Given the description of an element on the screen output the (x, y) to click on. 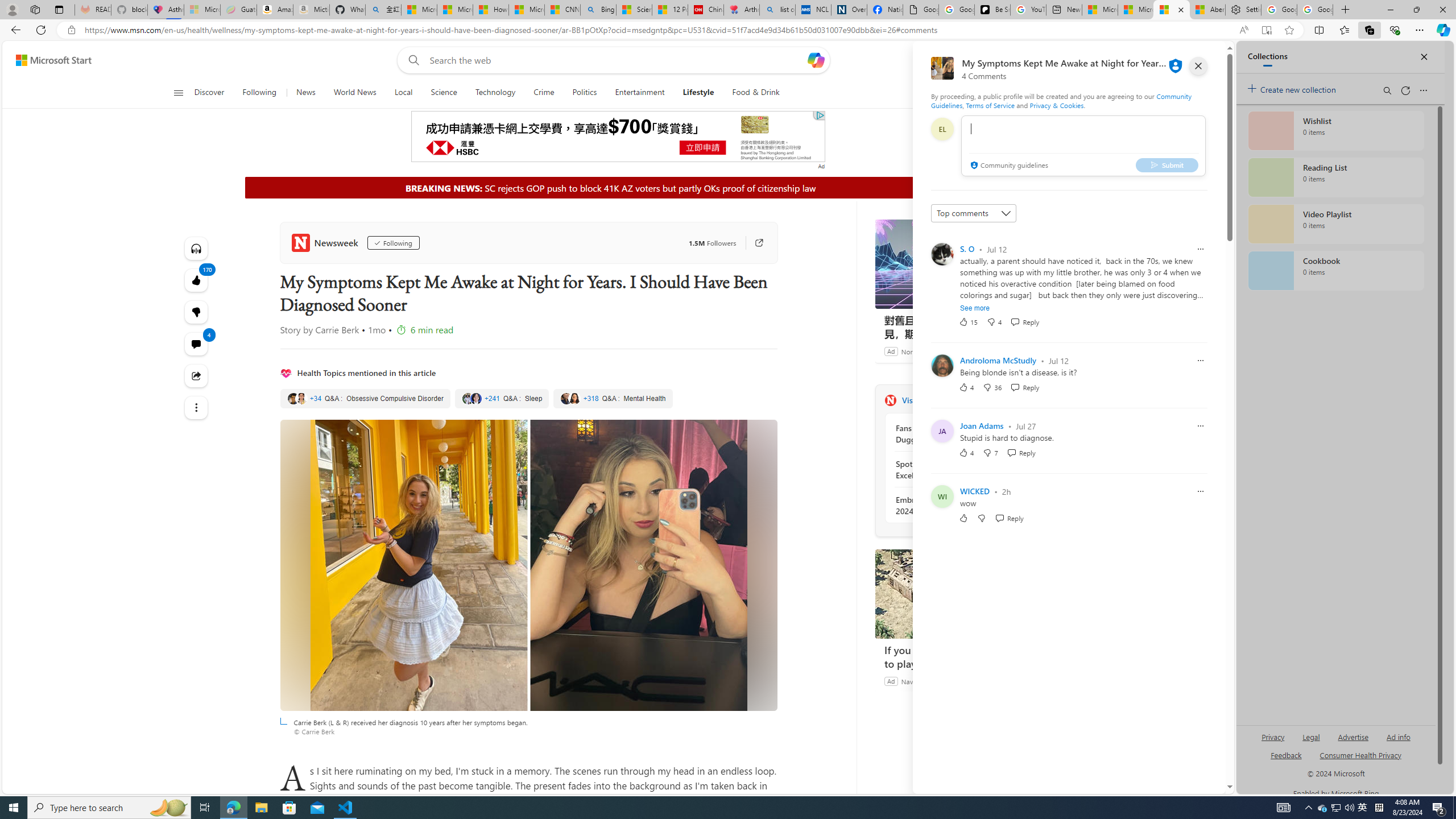
Visit Newsweek website (1031, 399)
Hide (975, 187)
Sleep (501, 398)
Community guidelines (1008, 165)
Share this story (196, 375)
